Given the description of an element on the screen output the (x, y) to click on. 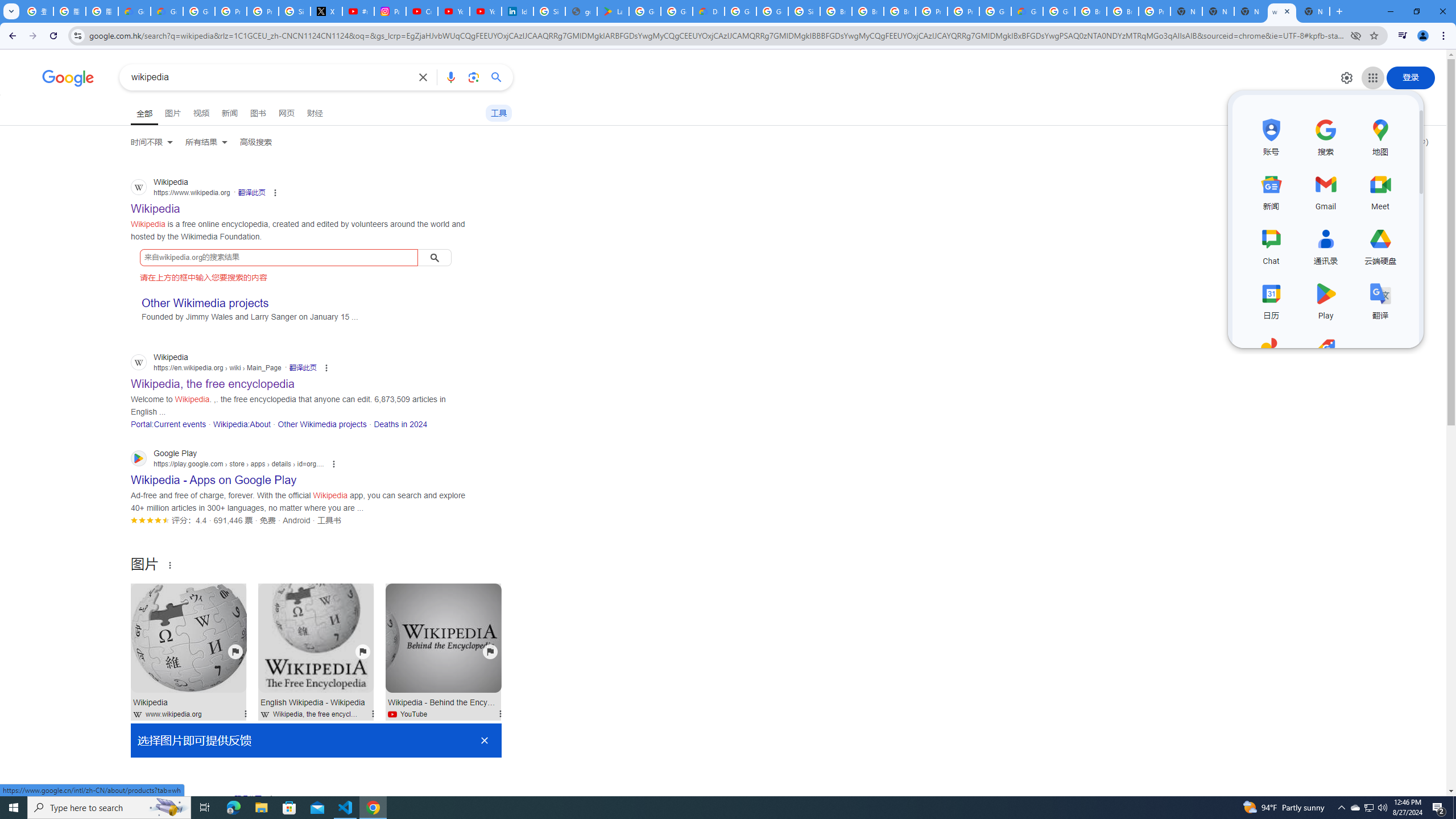
Browse Chrome as a guest - Computer - Google Chrome Help (1123, 11)
YouTube Culture & Trends - YouTube Top 10, 2021 (485, 11)
Deaths in 2024 (401, 424)
Google Cloud Estimate Summary (1027, 11)
Other Wikimedia projects (322, 424)
